Given the description of an element on the screen output the (x, y) to click on. 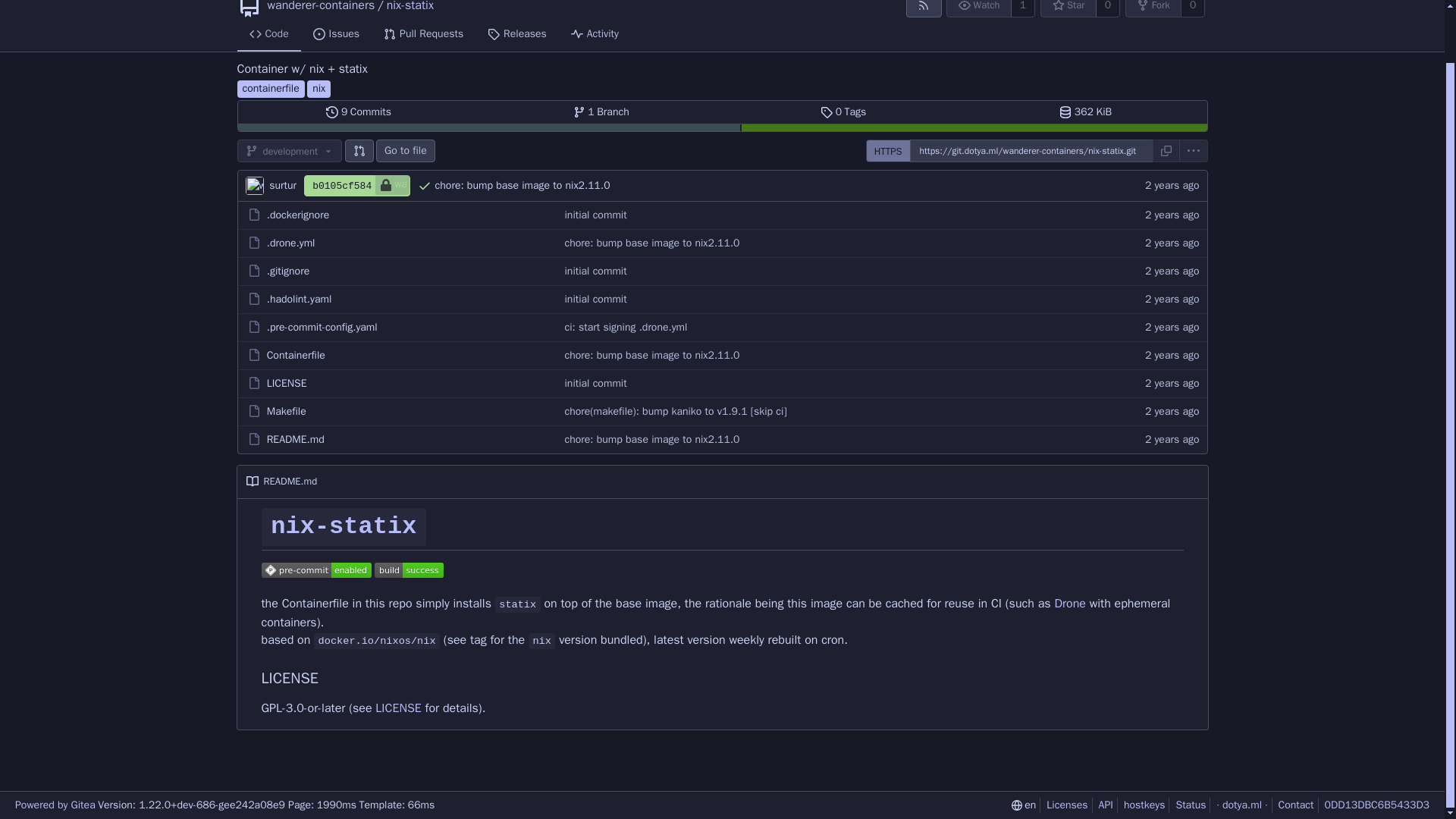
wanderer-containers (320, 6)
.drone.yml (290, 242)
wanderer (400, 184)
Pull Requests (423, 34)
development (359, 111)
Code (842, 111)
Releases (288, 150)
0 (267, 34)
1 (517, 34)
nix-statix (1107, 8)
wanderer (601, 111)
surtur (1022, 8)
